Given the description of an element on the screen output the (x, y) to click on. 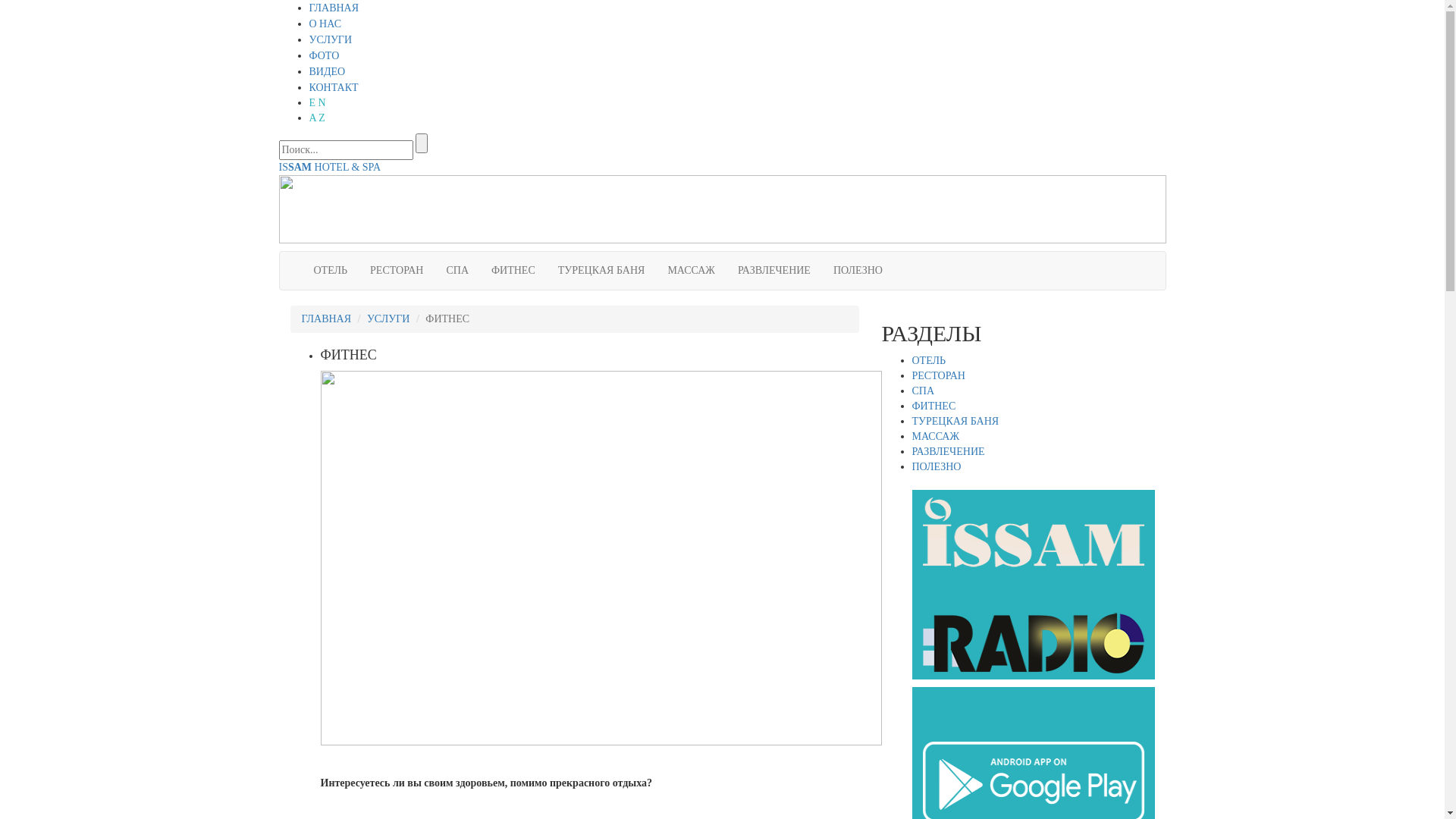
A Z Element type: text (317, 117)
ISSAM HOTEL & SPA Element type: text (330, 166)
E N Element type: text (317, 102)
